Given the description of an element on the screen output the (x, y) to click on. 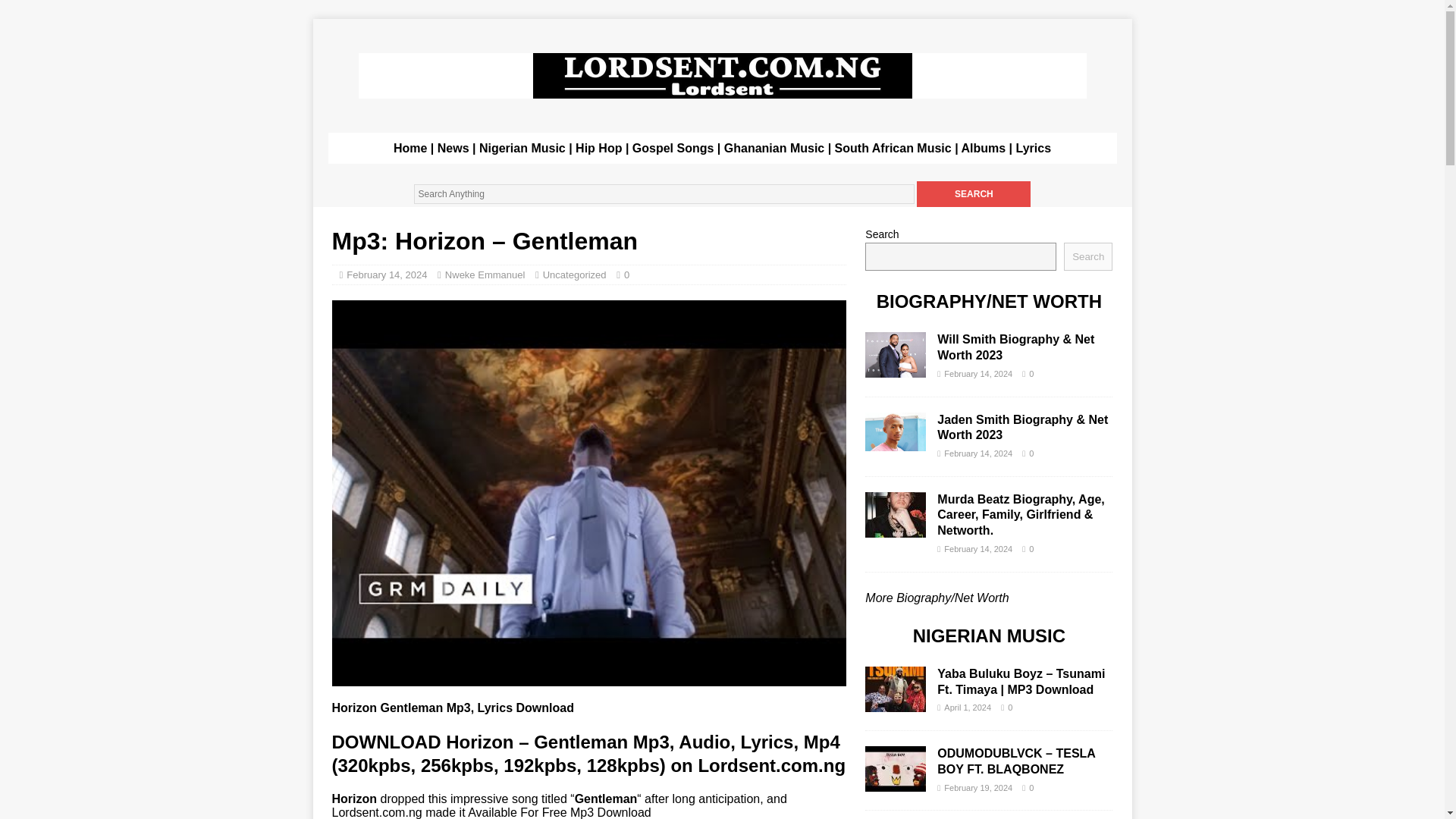
News (453, 147)
Home (409, 147)
Search (973, 193)
Gospel Songs (672, 147)
Nigerian Music (522, 147)
NIGERIAN MUSIC (988, 635)
Nweke Emmanuel (485, 274)
Hip Hop (598, 147)
Uncategorized (575, 274)
Ghananian Music (775, 147)
South African Music (893, 147)
Albums (983, 147)
Search (1088, 256)
Search (973, 193)
Lyrics (1033, 147)
